Given the description of an element on the screen output the (x, y) to click on. 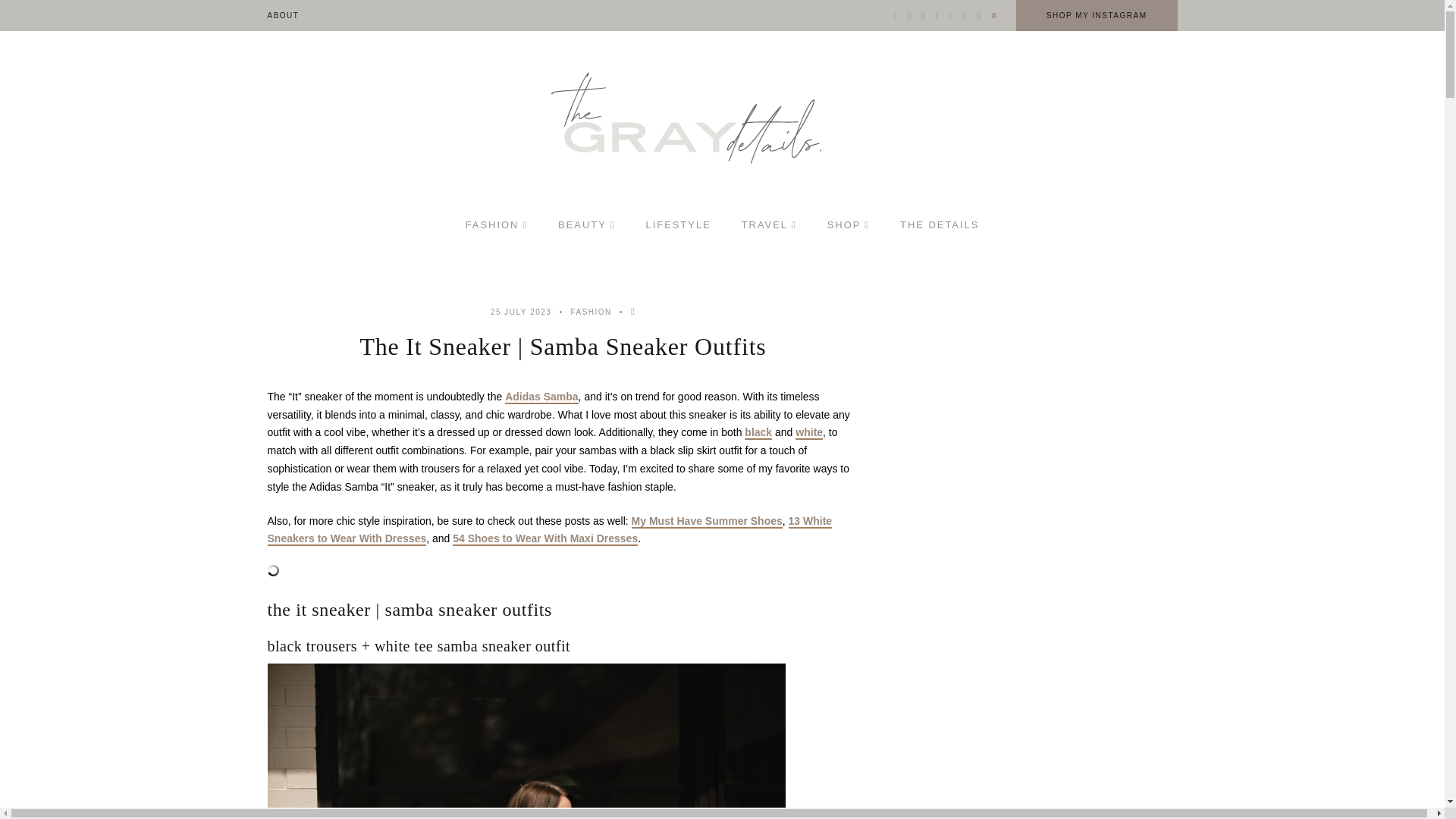
ABOUT (282, 15)
Samba Sneaker Outfits (525, 741)
FASHION (496, 224)
View all posts in Fashion (590, 311)
SHOP MY INSTAGRAM (1096, 15)
